Given the description of an element on the screen output the (x, y) to click on. 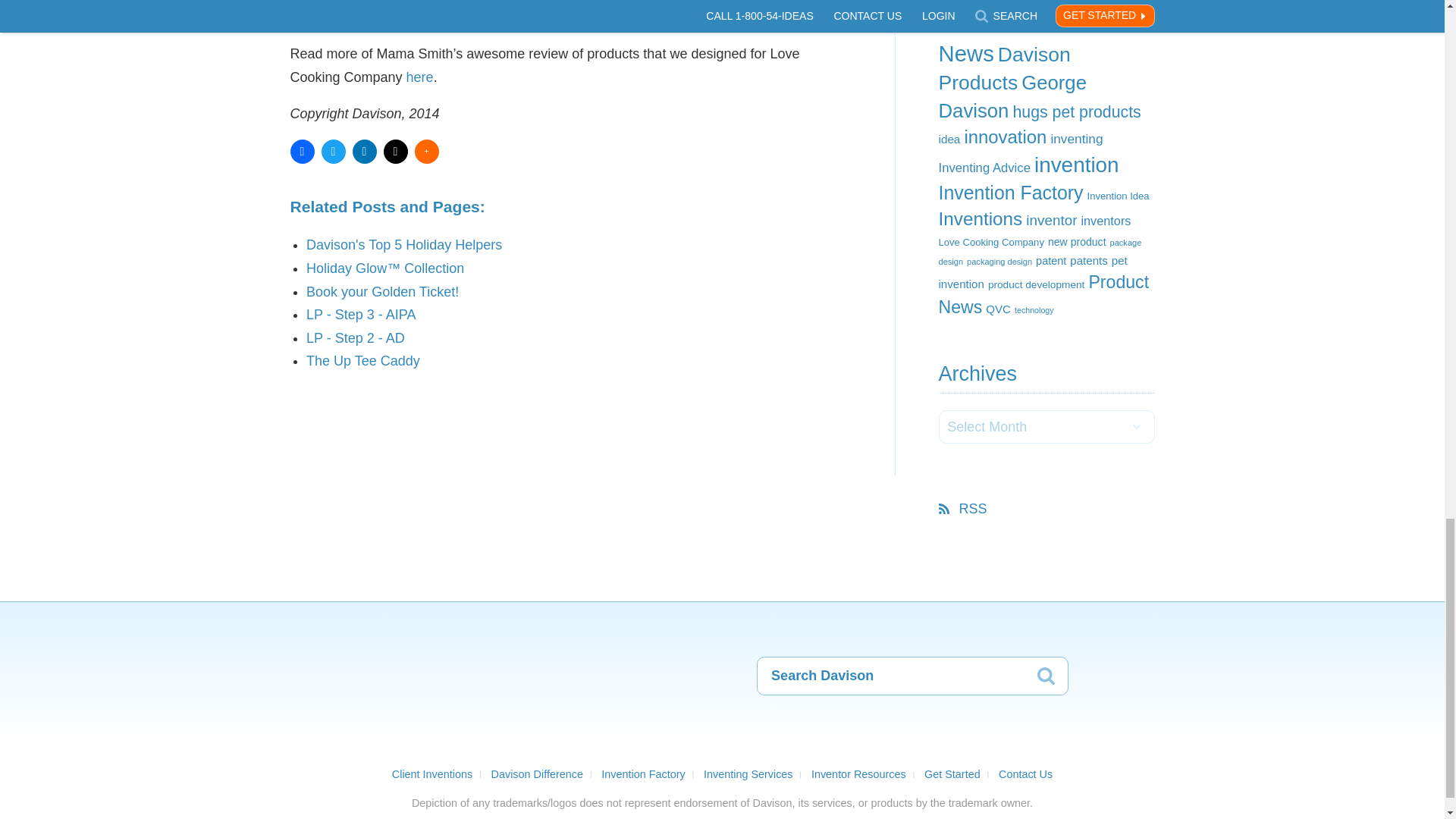
Submit (1047, 677)
Submit (1047, 677)
